Given the description of an element on the screen output the (x, y) to click on. 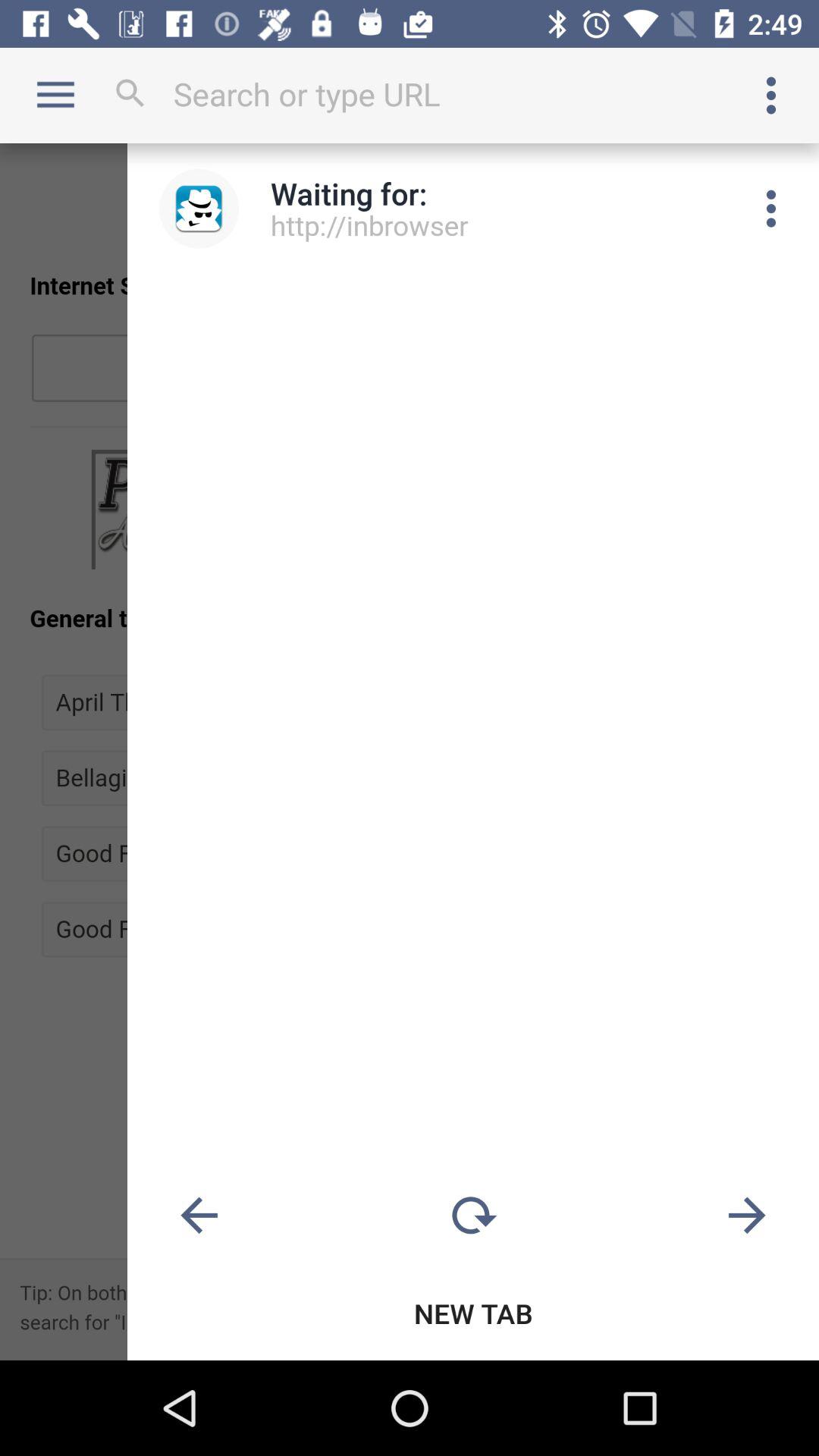
refresh search (472, 1216)
